Given the description of an element on the screen output the (x, y) to click on. 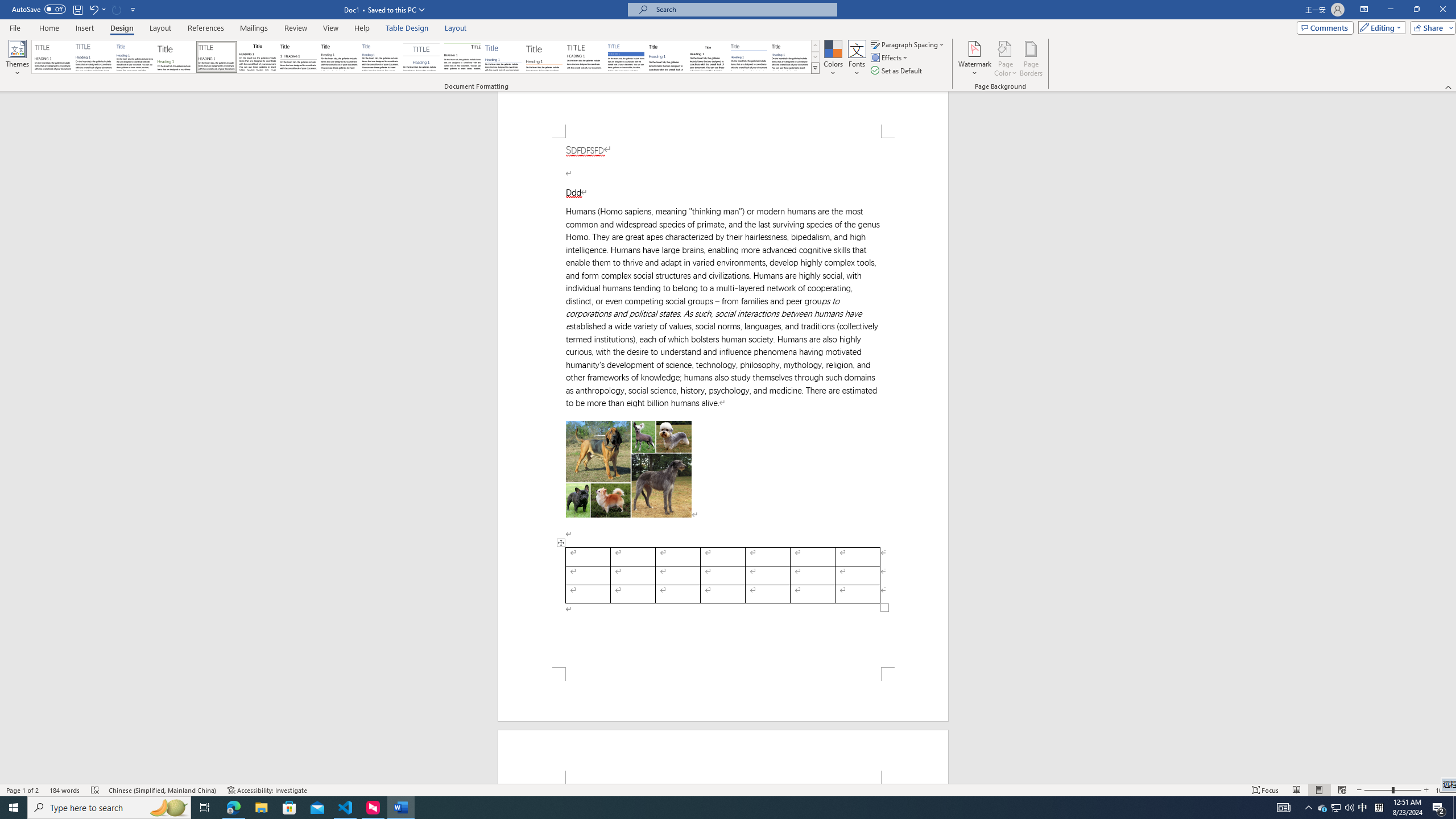
Quick Access Toolbar (74, 9)
Help (361, 28)
Page Number Page 1 of 2 (22, 790)
Close (1442, 9)
Review (295, 28)
Collapse the Ribbon (1448, 86)
Insert (83, 28)
Row Down (814, 56)
Lines (Simple) (503, 56)
